Given the description of an element on the screen output the (x, y) to click on. 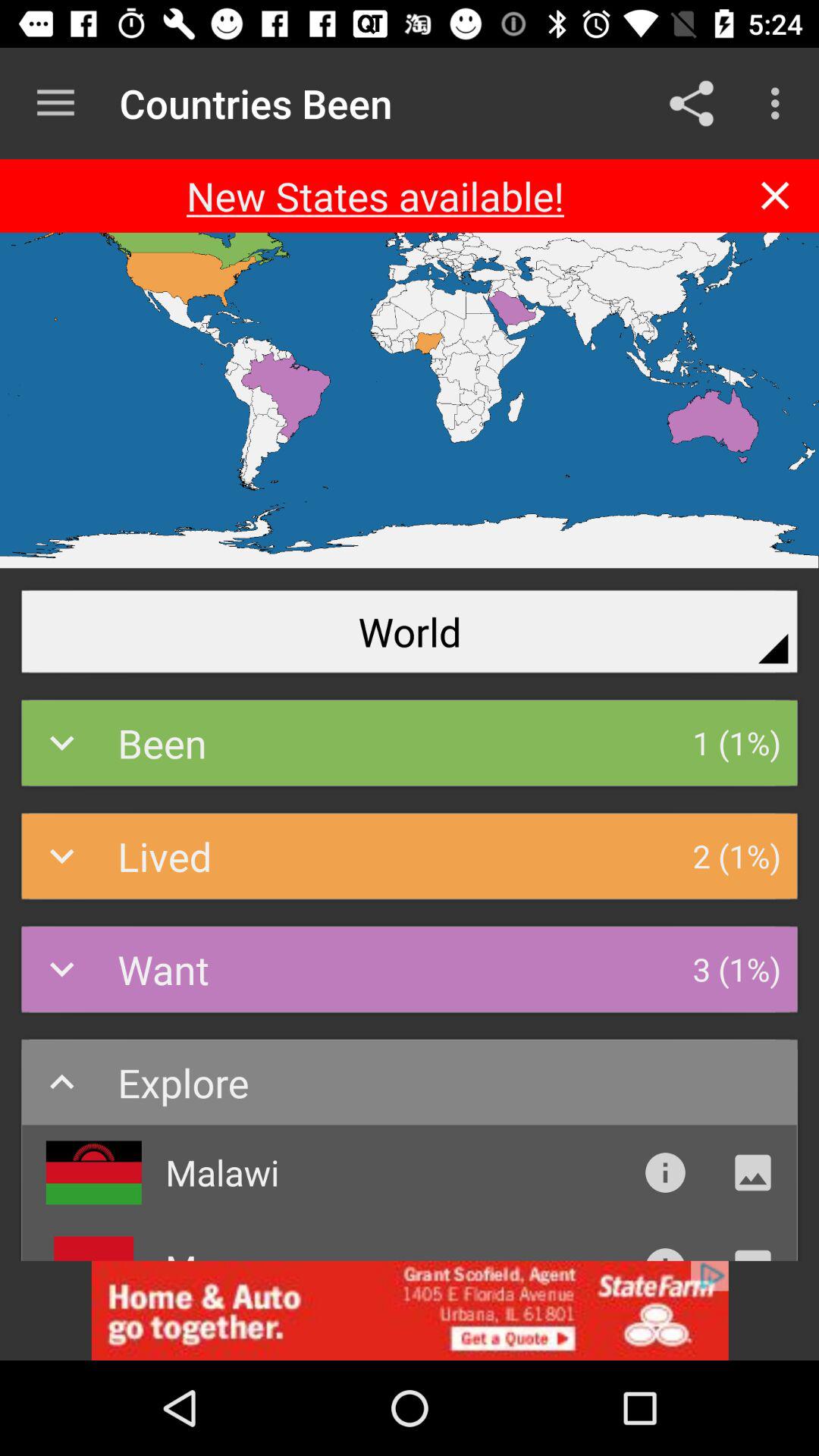
instruction (665, 1172)
